Given the description of an element on the screen output the (x, y) to click on. 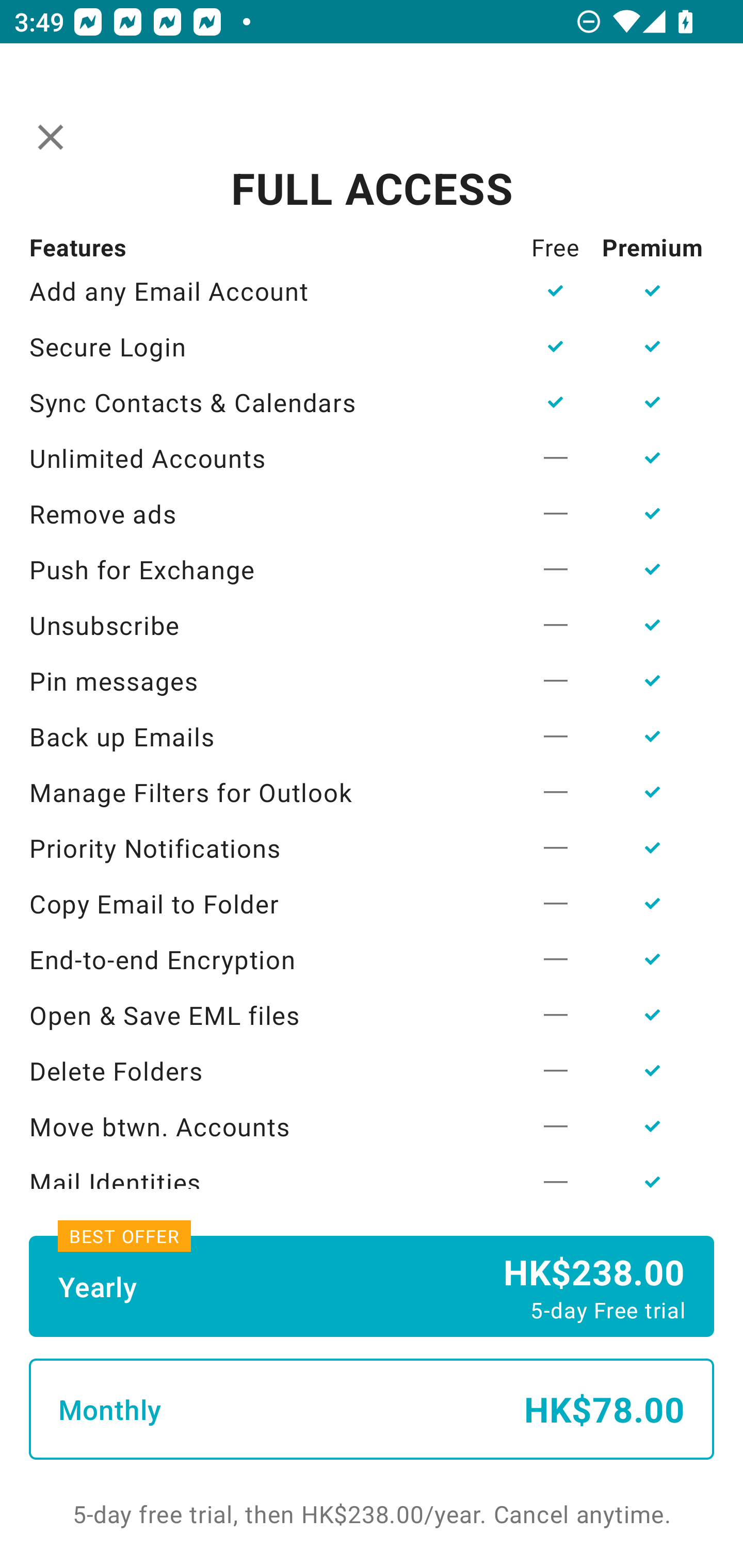
Yearly HK$238.00 5-day Free trial (371, 1286)
Monthly HK$78.00 (371, 1408)
